Given the description of an element on the screen output the (x, y) to click on. 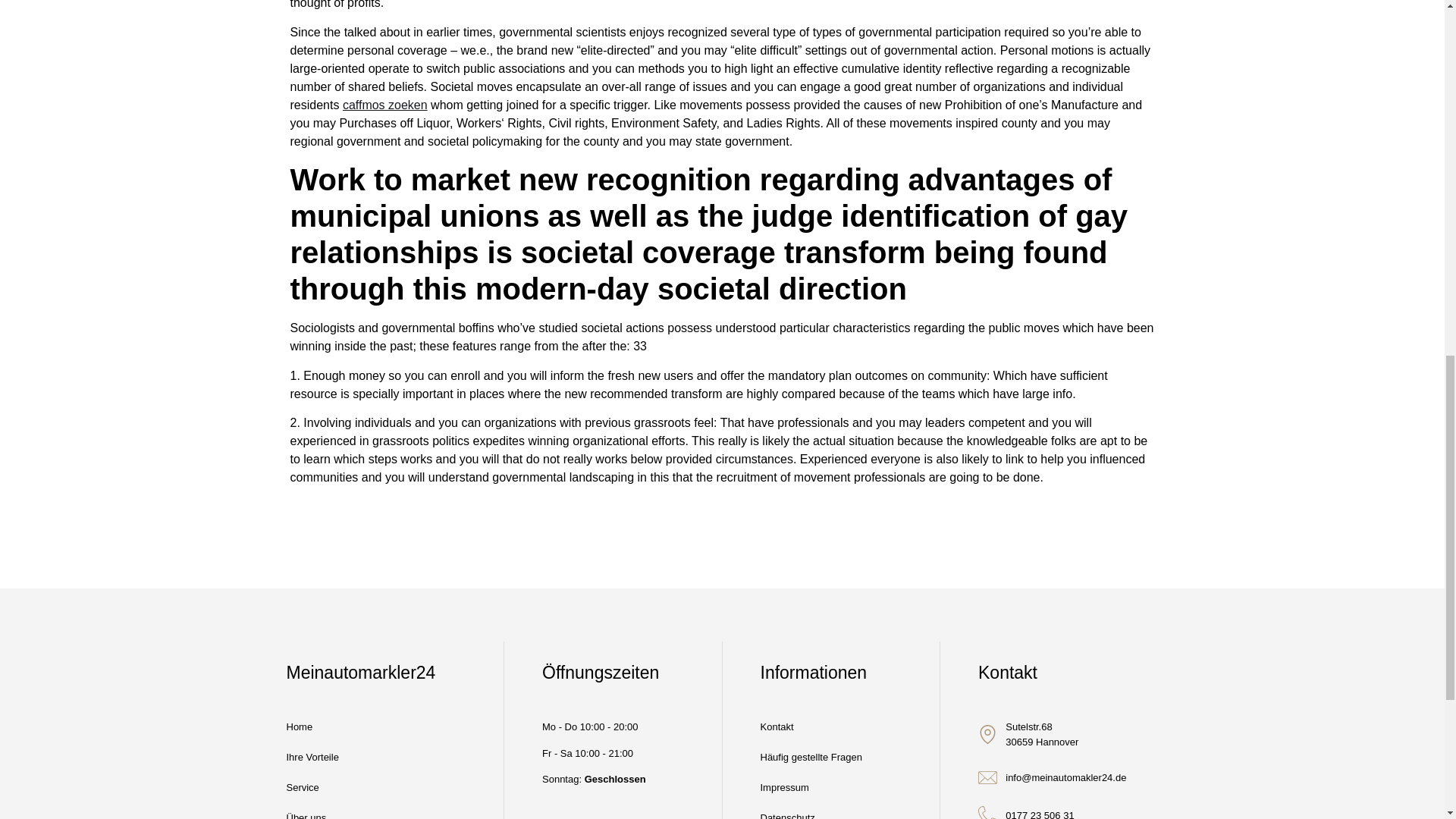
Ihre Vorteile (312, 757)
caffmos zoeken (385, 104)
Service (312, 788)
Home (312, 726)
Datenschutz (810, 811)
Kontakt (810, 726)
Impressum (810, 788)
